Given the description of an element on the screen output the (x, y) to click on. 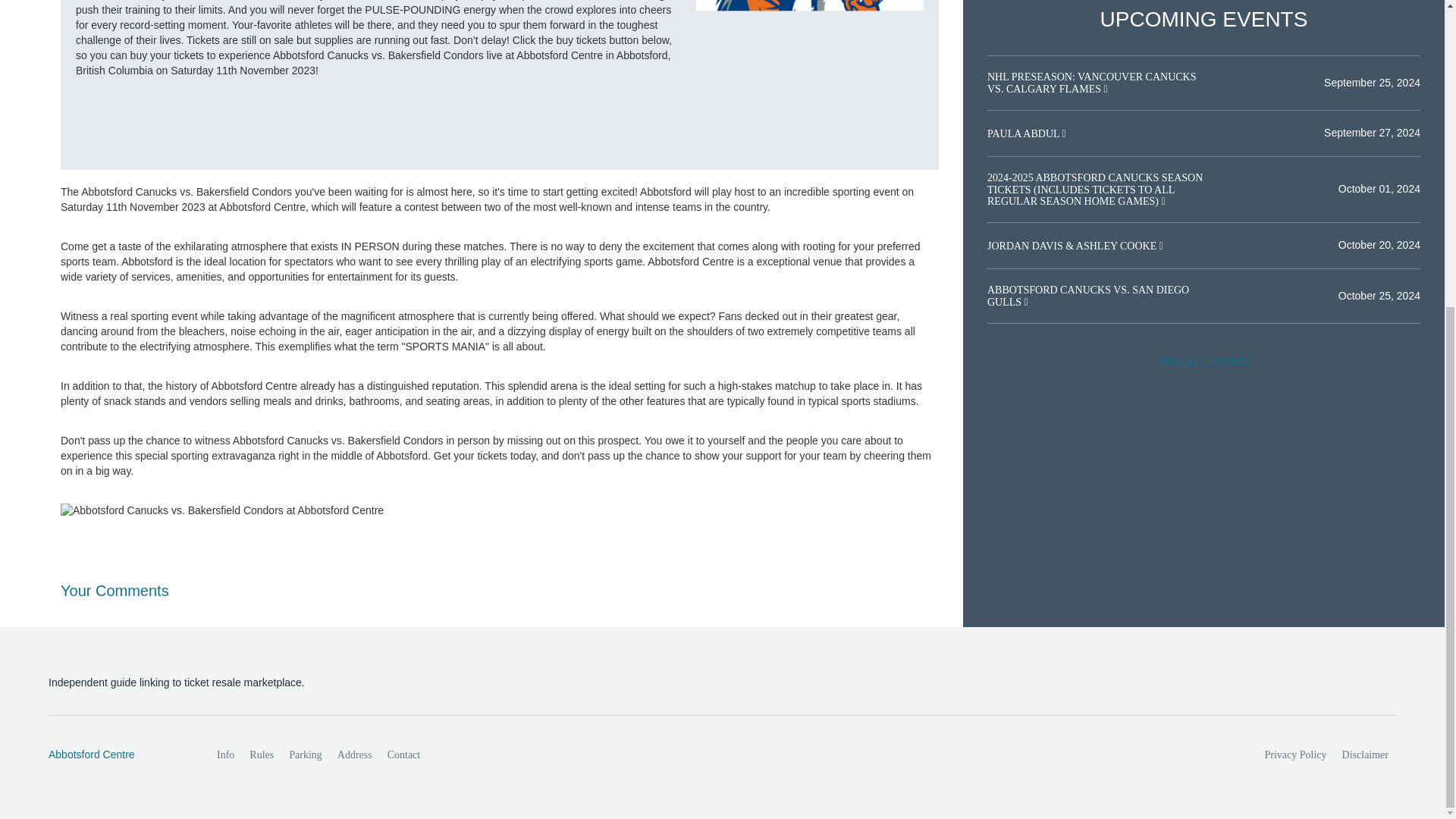
Rules (261, 755)
PAULA ABDUL (1024, 133)
Privacy Policy (1296, 755)
Disclaimer (1365, 755)
Contact (404, 755)
Abbotsford Centre (116, 754)
Info (225, 755)
Address (355, 755)
Parking (305, 755)
VIEW ALL EVENTS (1203, 362)
